Given the description of an element on the screen output the (x, y) to click on. 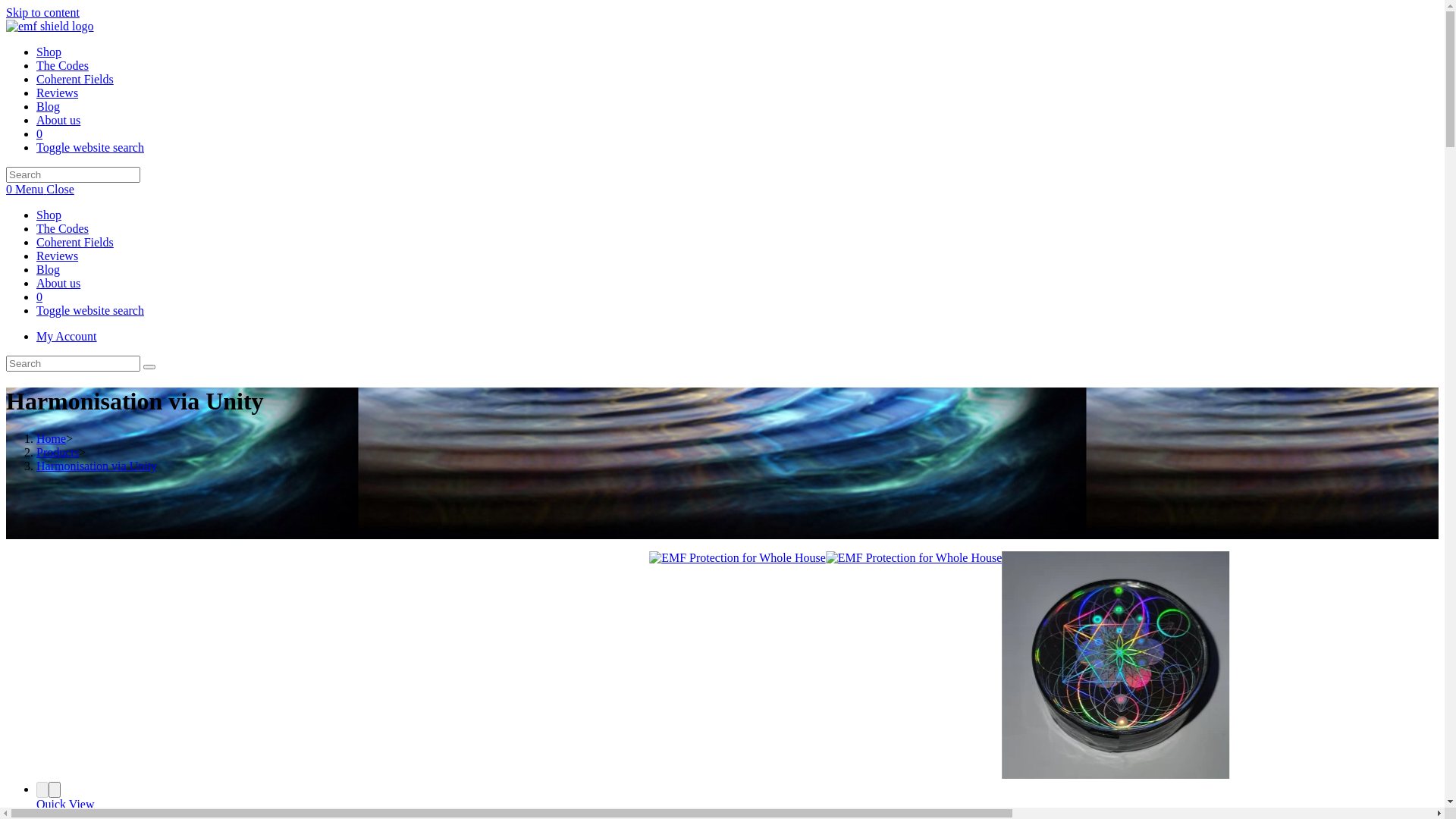
0 Element type: text (10, 188)
The Codes Element type: text (62, 228)
Coherent Fields Element type: text (74, 78)
Shop Element type: text (48, 51)
Reviews Element type: text (57, 255)
Blog Element type: text (47, 269)
Skip to content Element type: text (42, 12)
My Account Element type: text (66, 335)
Menu Close Element type: text (44, 188)
Quick View Element type: text (65, 803)
Reviews Element type: text (57, 92)
Toggle website search Element type: text (90, 310)
Shop Element type: text (48, 214)
Coherent Fields Element type: text (74, 241)
0 Element type: text (39, 296)
The Codes Element type: text (62, 65)
Blog Element type: text (47, 106)
Harmonisation via Unity Element type: text (96, 465)
Products Element type: text (57, 451)
Toggle website search Element type: text (90, 147)
About us Element type: text (58, 119)
0 Element type: text (39, 133)
Home Element type: text (50, 438)
About us Element type: text (58, 282)
